Given the description of an element on the screen output the (x, y) to click on. 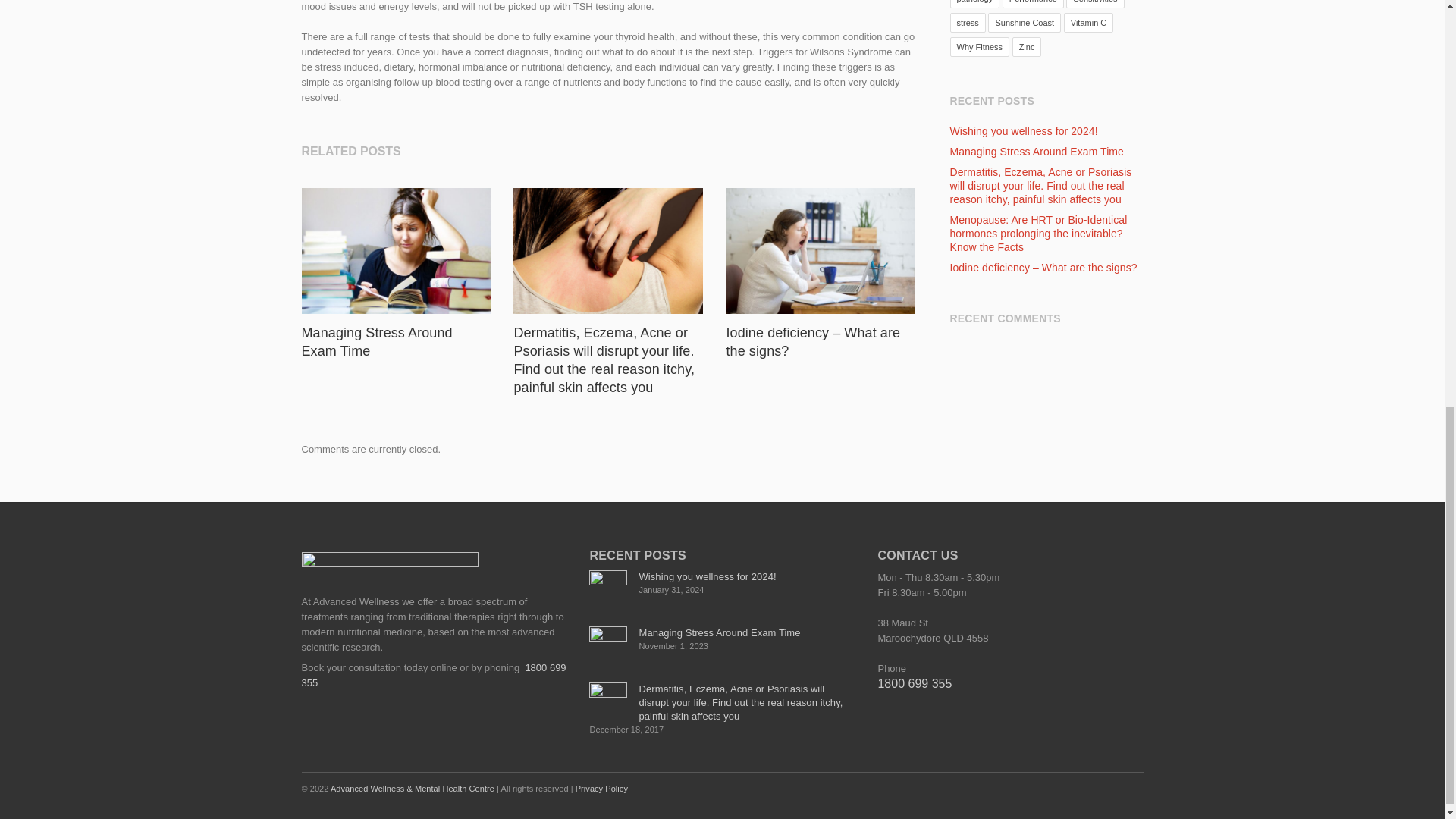
Facebook (1064, 788)
Managing Stress Around Exam Time (376, 341)
RSS (1127, 788)
Instagram (1096, 788)
